Given the description of an element on the screen output the (x, y) to click on. 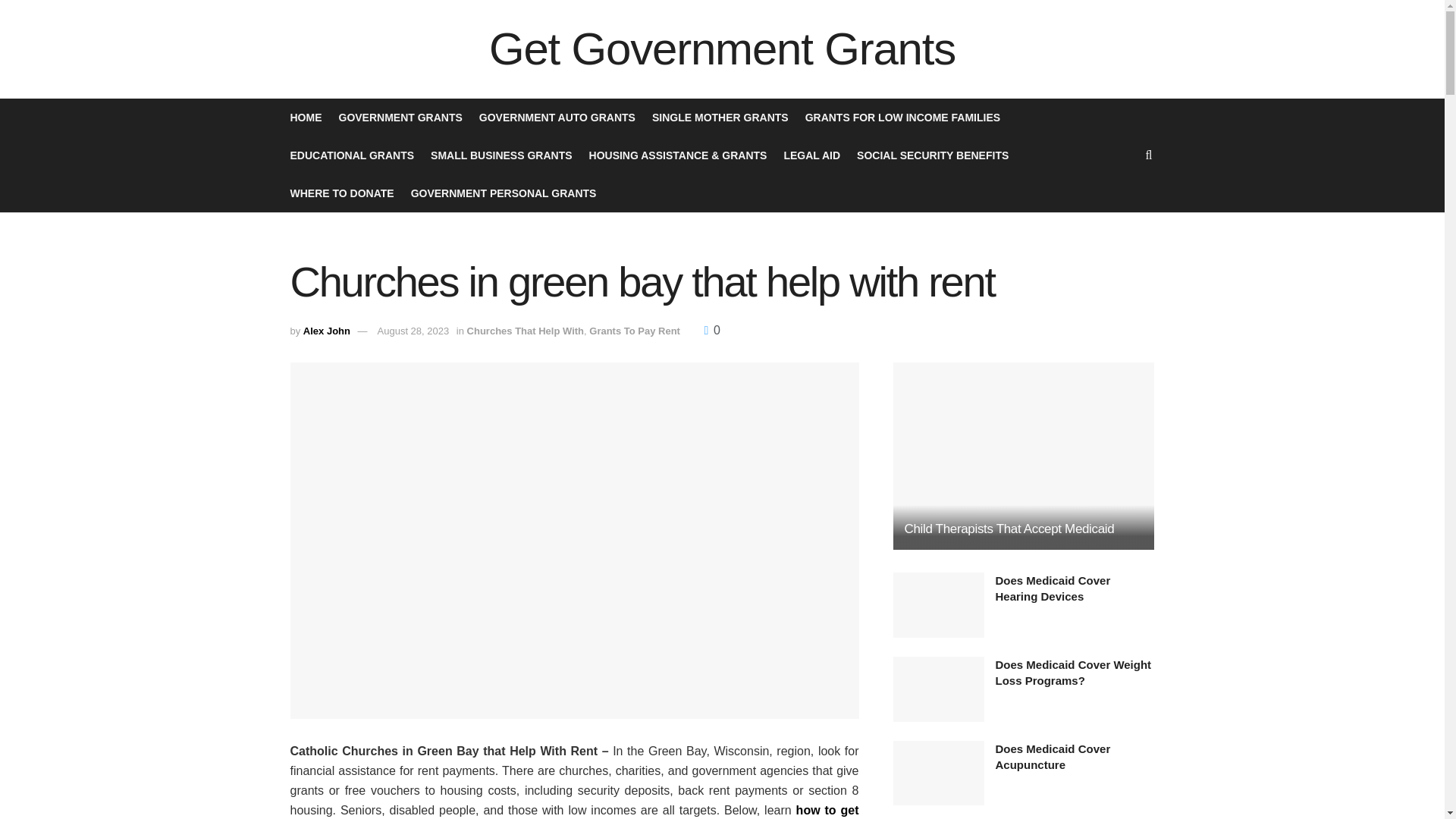
how to get help with churches that help with rent (574, 811)
GOVERNMENT AUTO GRANTS (556, 117)
August 28, 2023 (413, 330)
Get Government Grants (722, 49)
LEGAL AID (811, 155)
WHERE TO DONATE (341, 192)
Alex John (326, 330)
GOVERNMENT GRANTS (399, 117)
GRANTS FOR LOW INCOME FAMILIES (902, 117)
Churches That Help With (525, 330)
